Given the description of an element on the screen output the (x, y) to click on. 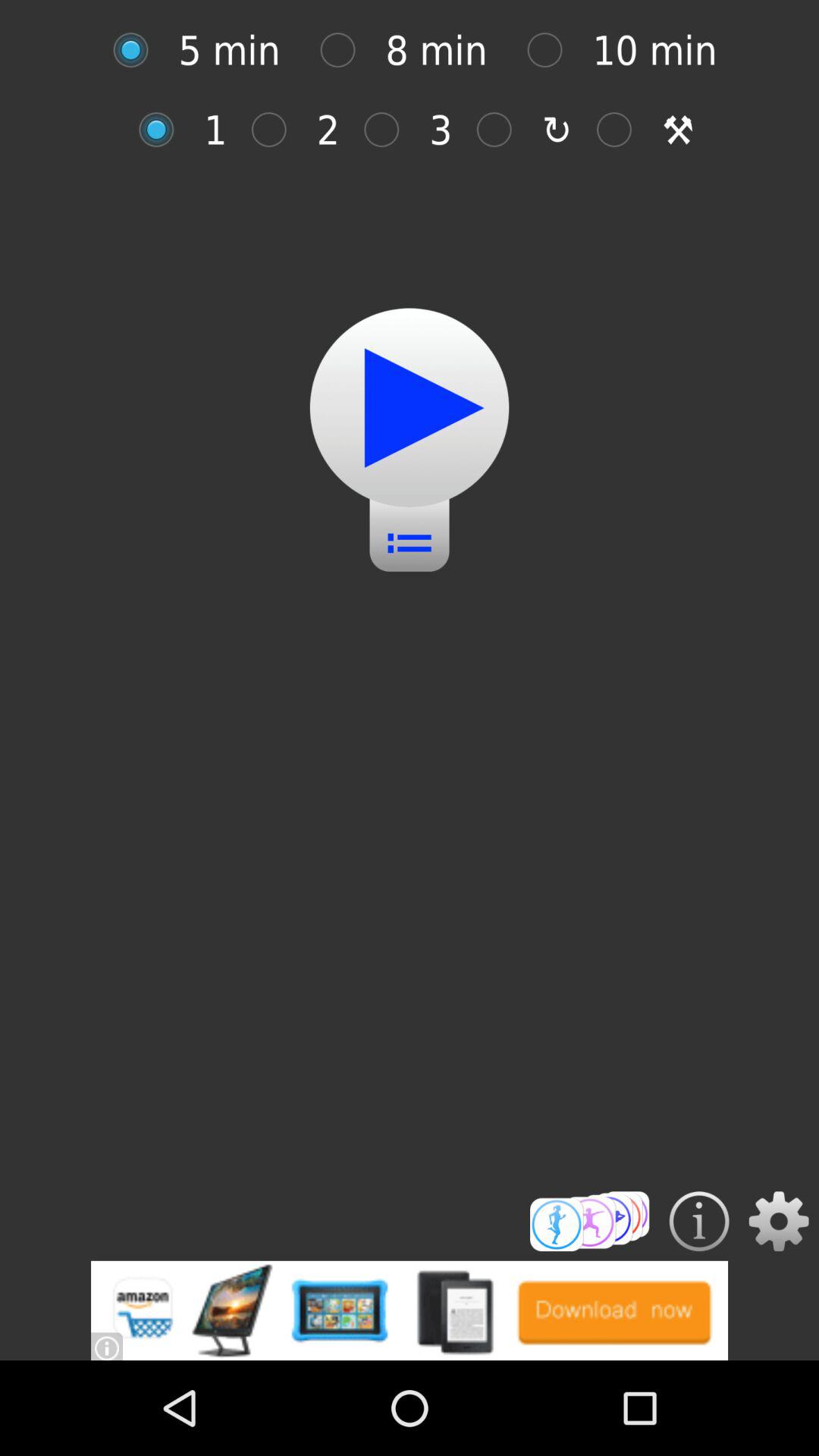
click on the radio button beside the text 5 min (139, 50)
click on the button below the play button (409, 532)
click on the radio button below 5 min (163, 130)
click on radio button after 2 (389, 130)
click on the check box below 10 (621, 130)
